Given the description of an element on the screen output the (x, y) to click on. 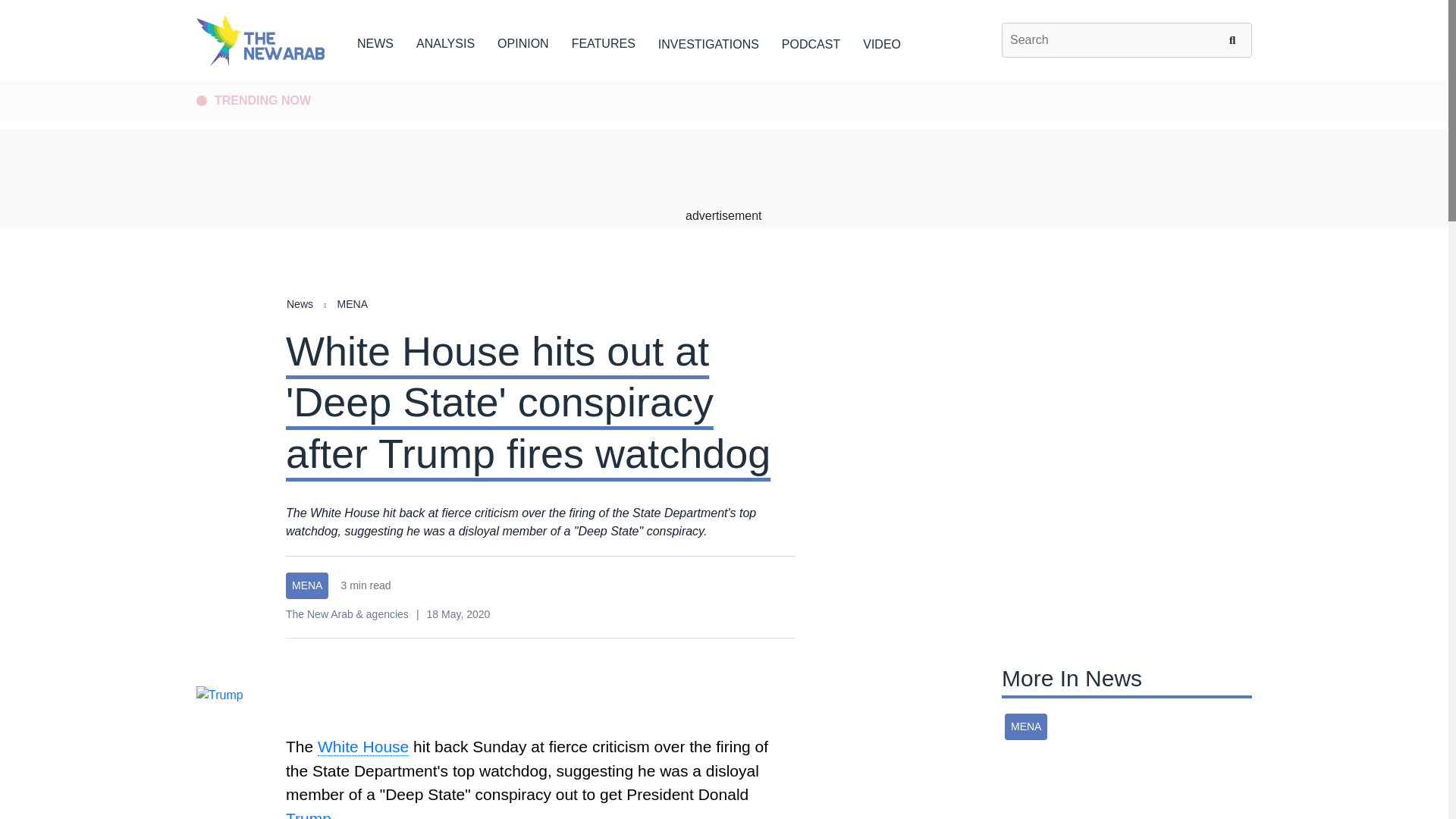
Skip to main content (724, 81)
NEWS (375, 41)
ANALYSIS (445, 41)
Search (1234, 39)
OPINION (523, 41)
